Given the description of an element on the screen output the (x, y) to click on. 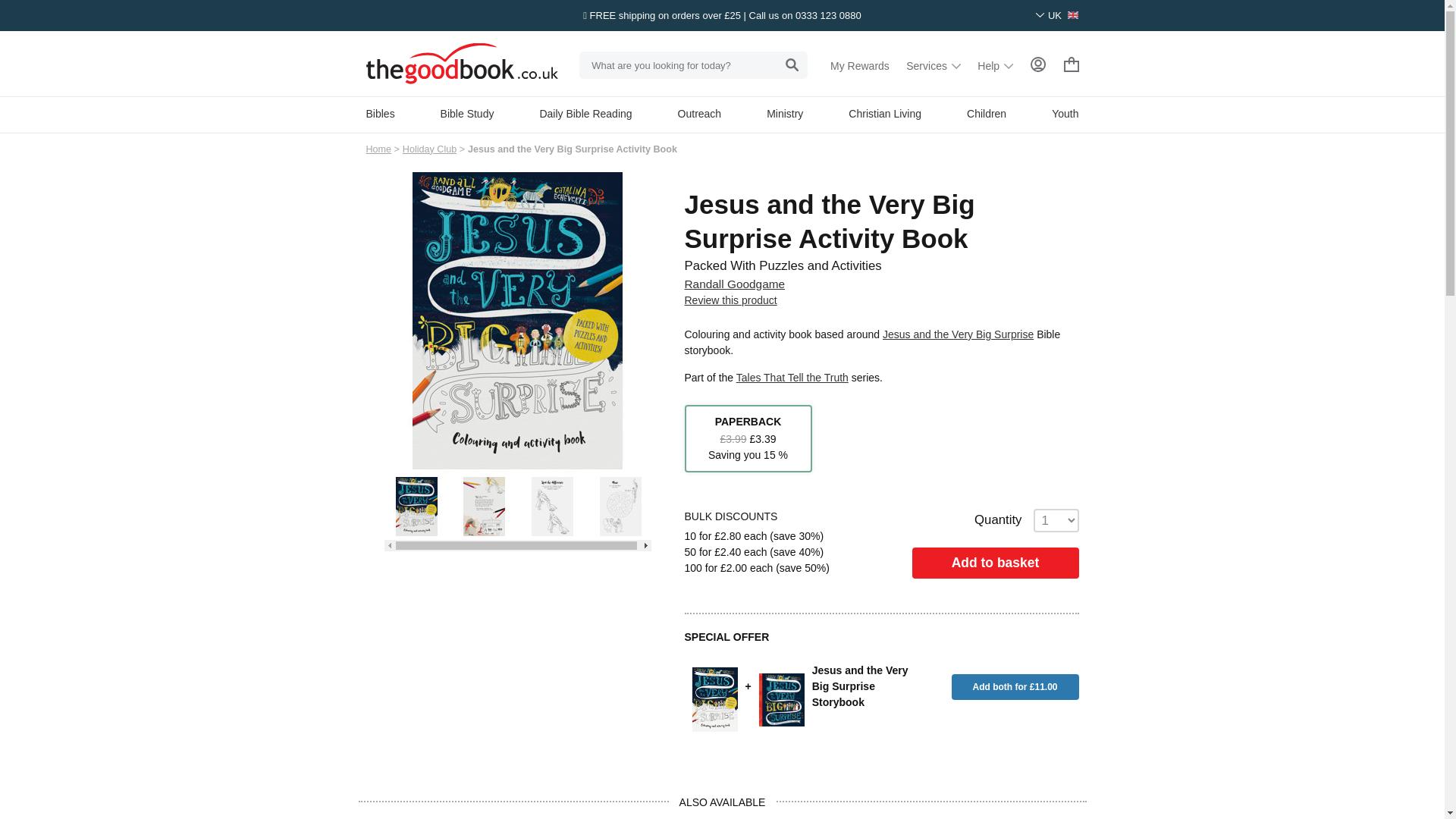
Sign in (1037, 64)
UK (1056, 14)
My Rewards (859, 65)
Bibles (379, 113)
Go to Home Page (378, 149)
Services (932, 65)
Help (994, 65)
